Given the description of an element on the screen output the (x, y) to click on. 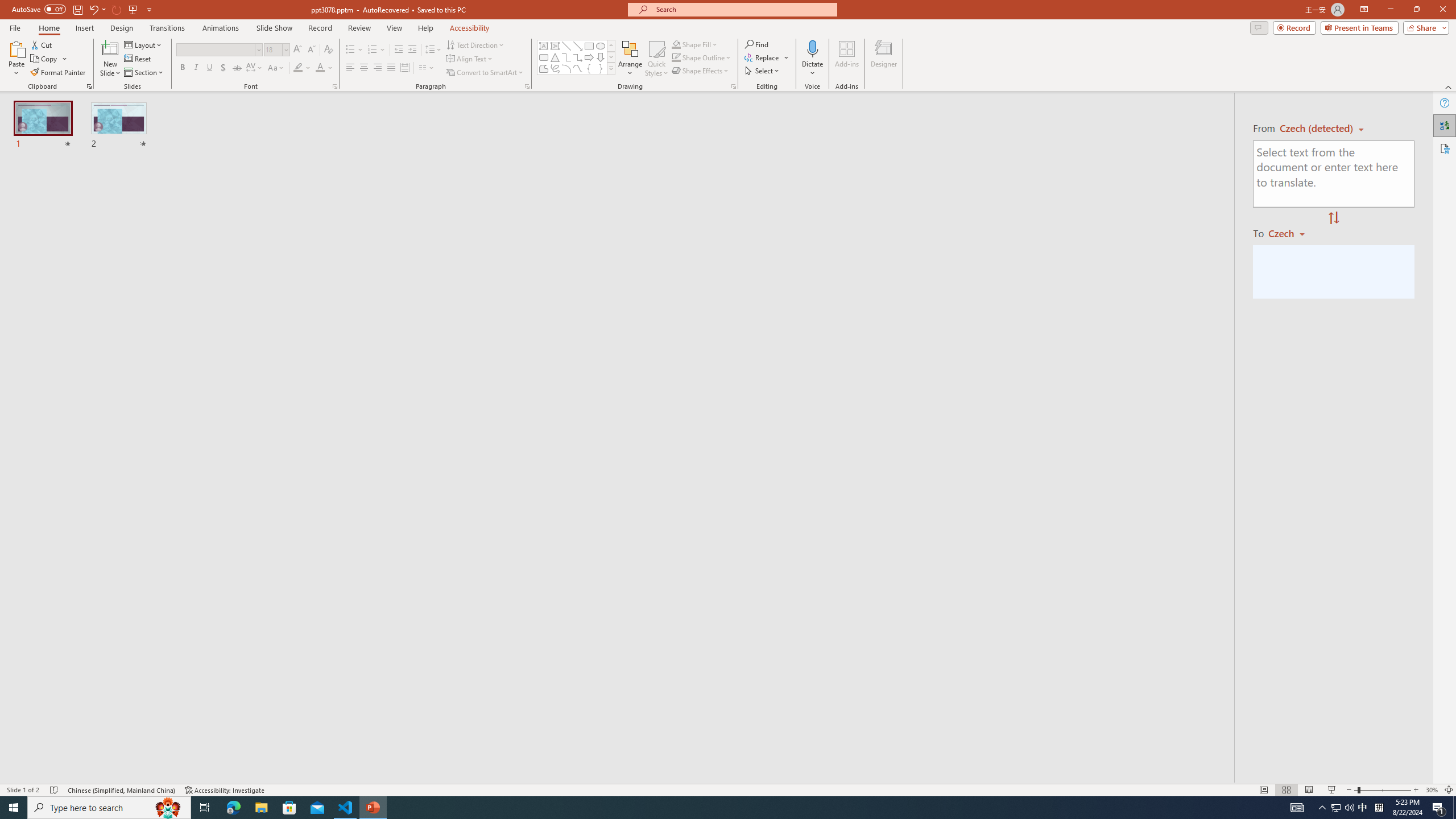
Terminal 2 bash (995, 580)
Manage (76, 734)
Wikipedia, the free encyclopedia (247, 78)
Class: menubar compact overflow-menu-only inactive (76, 183)
Close Panel (1033, 533)
Class: xterm-decoration-overview-ruler (928, 658)
Toggle Panel (Ctrl+J) (989, 150)
